Given the description of an element on the screen output the (x, y) to click on. 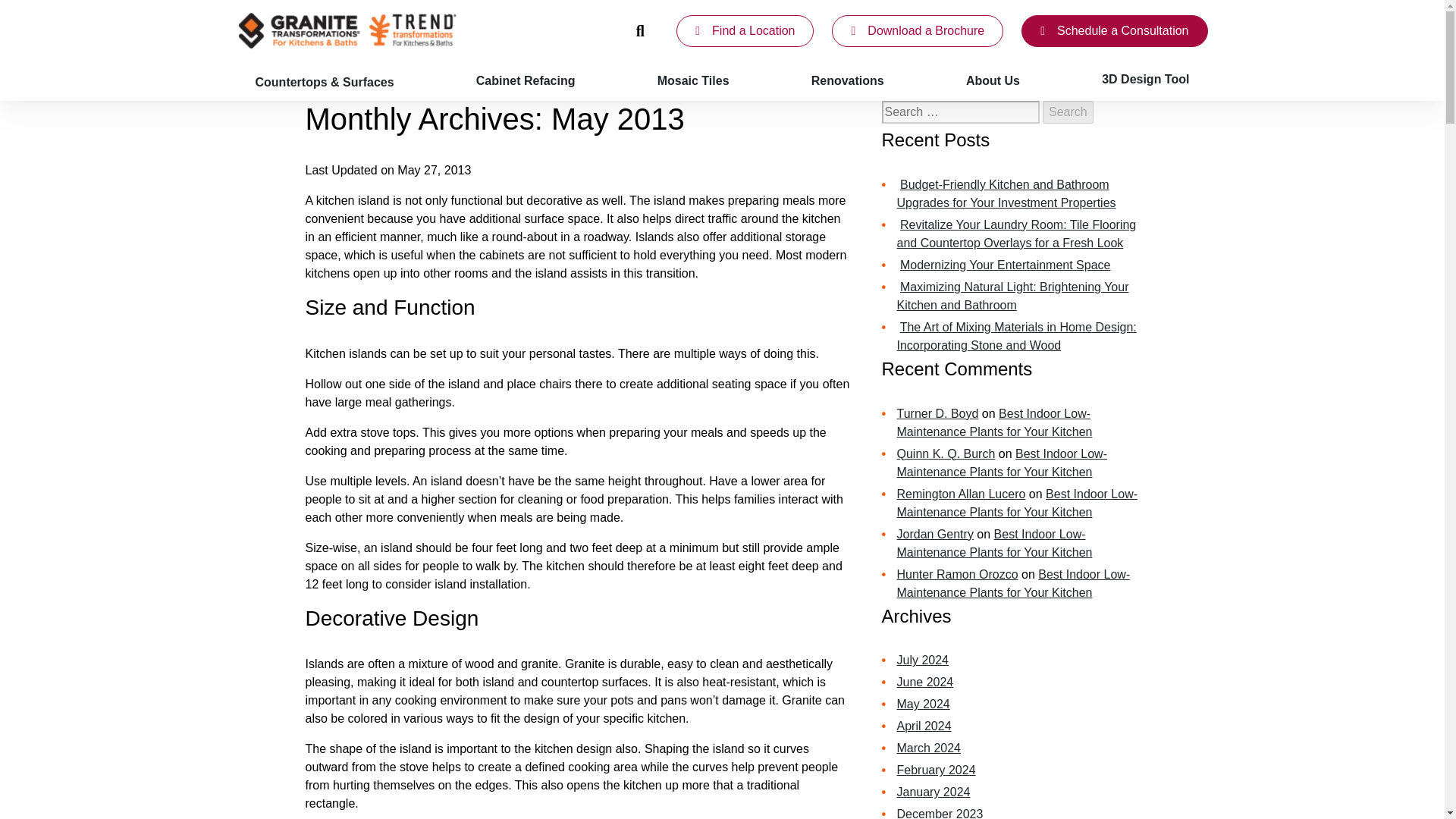
3D Design Tool (1145, 80)
Mosaic Tiles (693, 81)
Download a Brochure (917, 30)
Search (1067, 111)
Schedule a Consultation (1114, 30)
About Us (992, 81)
Cabinet Refacing (526, 81)
Renovations (847, 81)
Find a Location (745, 30)
Search (1067, 111)
